Given the description of an element on the screen output the (x, y) to click on. 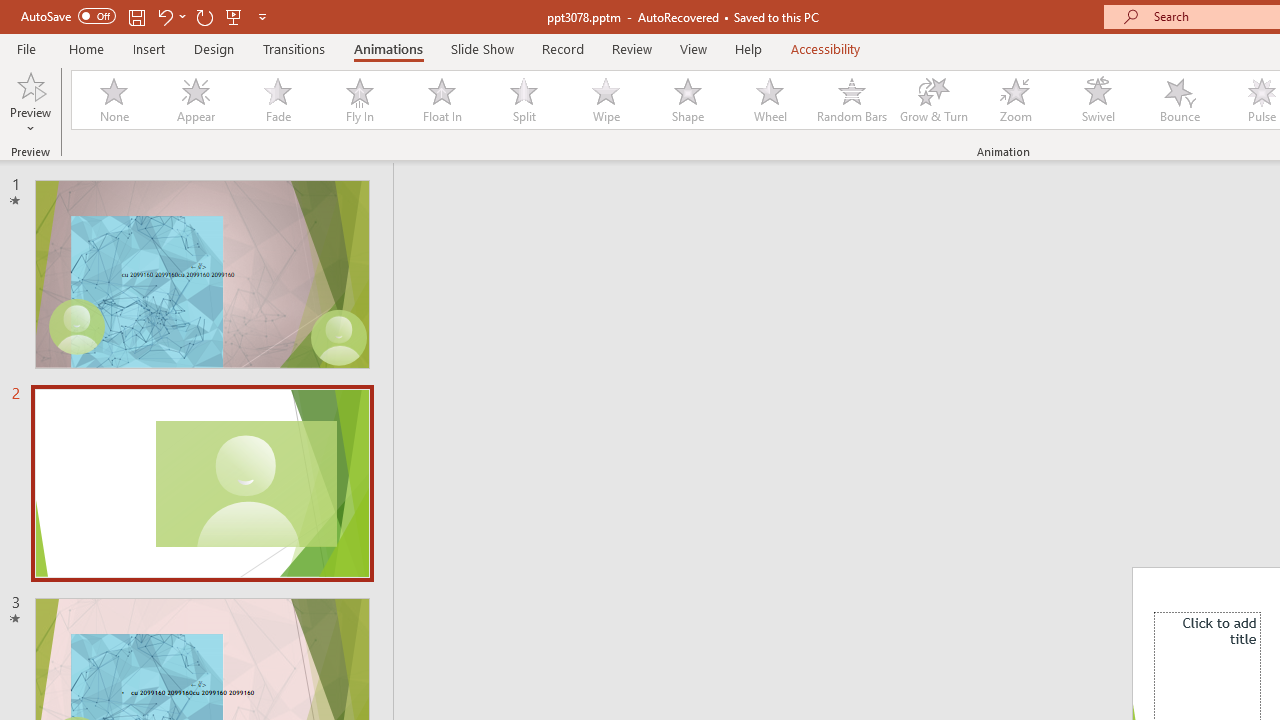
Split (523, 100)
Fade (277, 100)
Grow & Turn (934, 100)
